Given the description of an element on the screen output the (x, y) to click on. 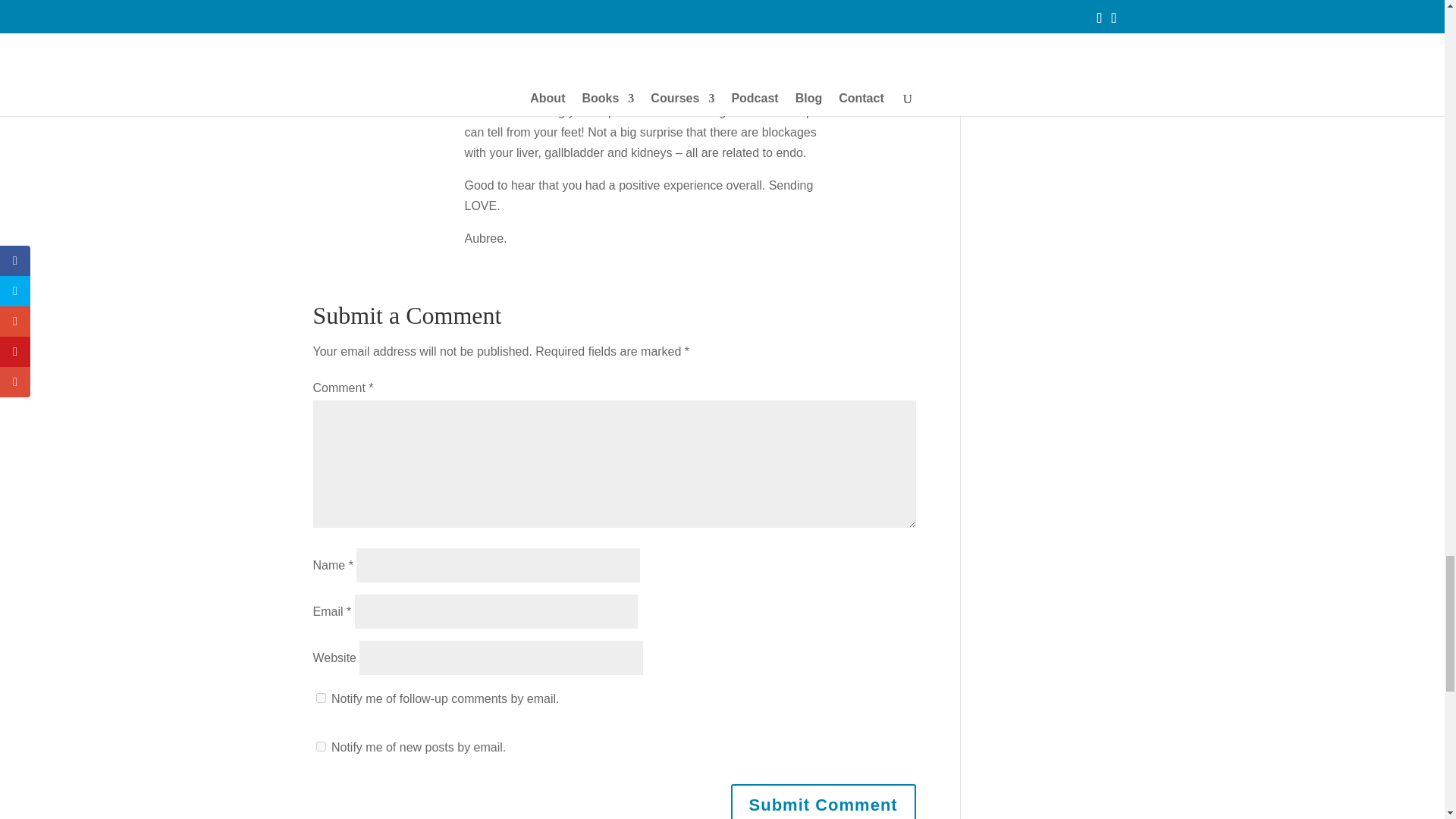
subscribe (319, 746)
Submit Comment (822, 801)
subscribe (319, 697)
Submit Comment (822, 801)
Reply (900, 55)
